Given the description of an element on the screen output the (x, y) to click on. 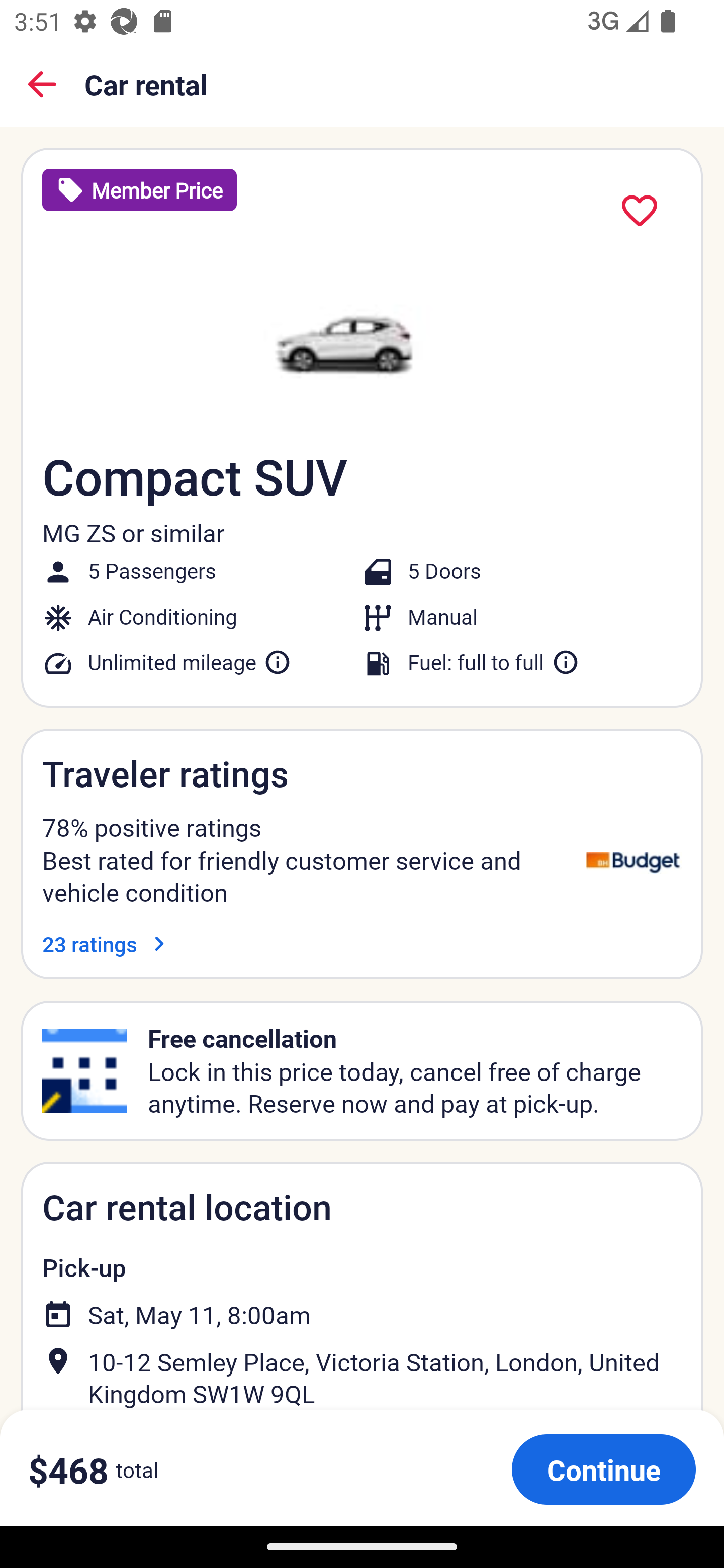
Go back to car rental search results (42, 84)
Save Compact SUV from Budget to a trip (639, 211)
Unlimited mileage (189, 662)
Fuel: full to full (493, 662)
23 ratings 23 ratings Link (107, 943)
Continue (603, 1468)
